Given the description of an element on the screen output the (x, y) to click on. 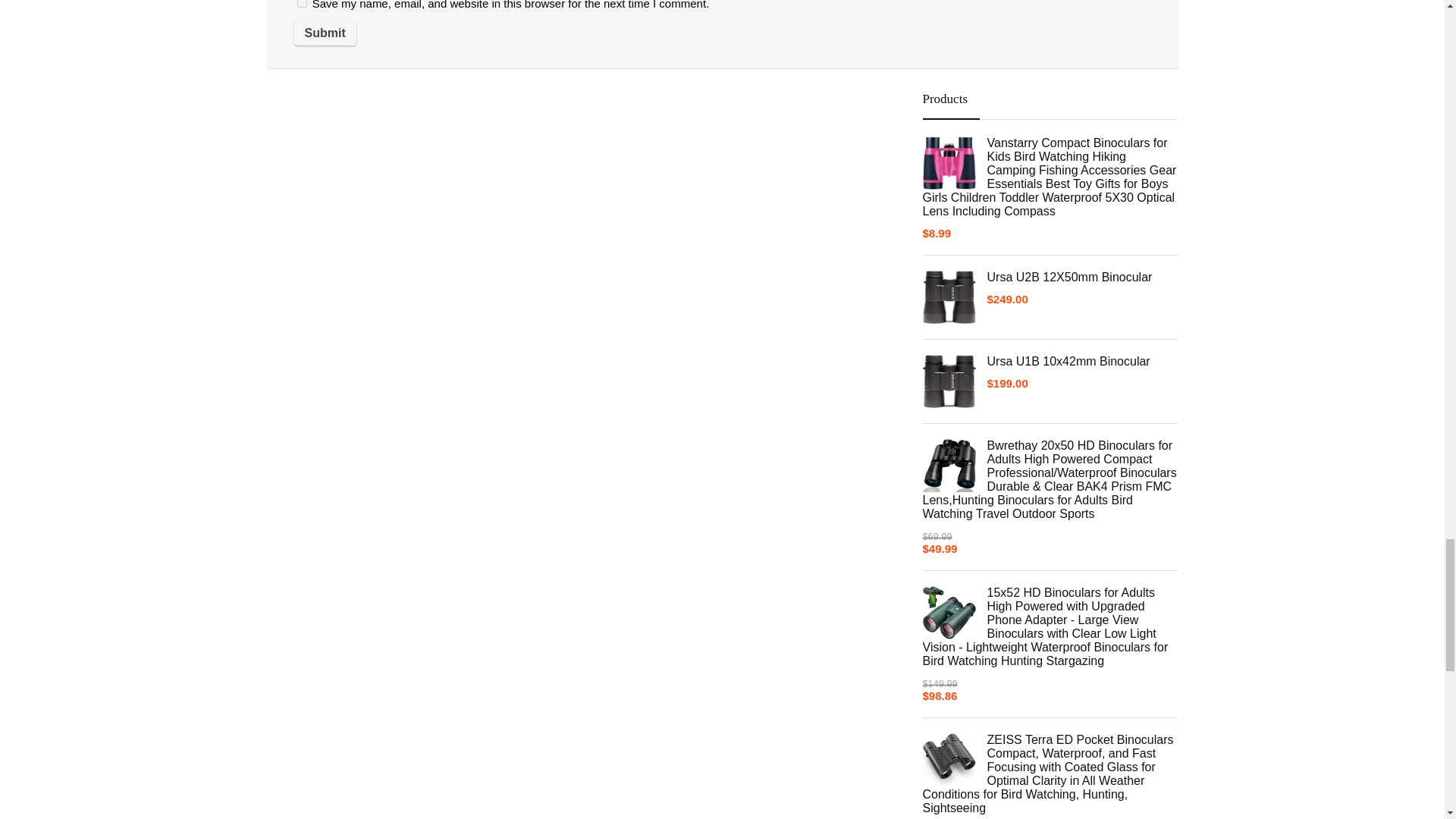
Submit (325, 33)
yes (302, 3)
